Given the description of an element on the screen output the (x, y) to click on. 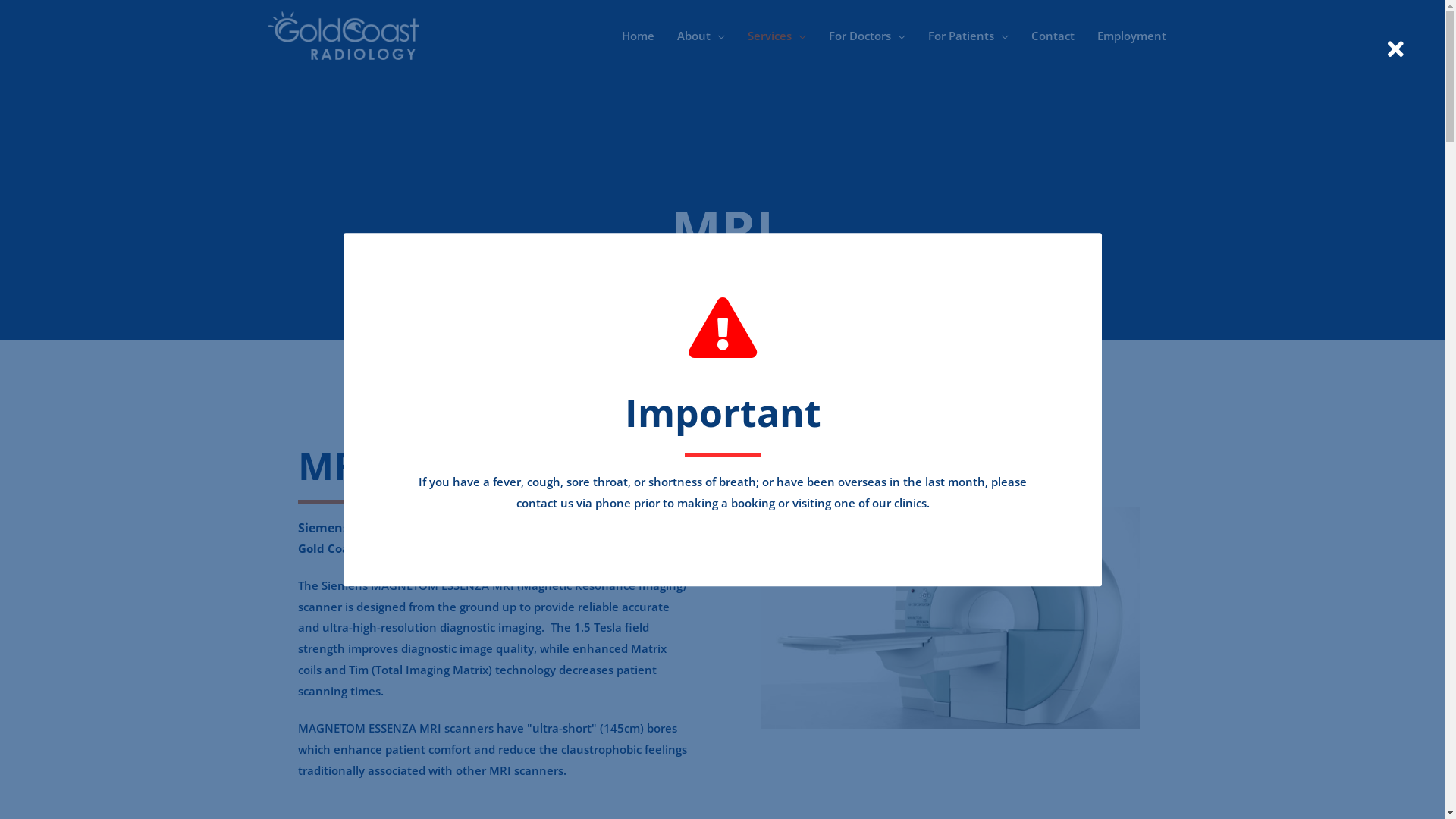
For Patients Element type: text (967, 35)
Contact Element type: text (1052, 35)
For Doctors Element type: text (866, 35)
Services Element type: text (775, 35)
Siemens-MAGNETOM-ESSENZA-1.5-T-MRI-Scanner Element type: hover (949, 617)
Employment Element type: text (1131, 35)
About Element type: text (700, 35)
Home Element type: text (637, 35)
